Given the description of an element on the screen output the (x, y) to click on. 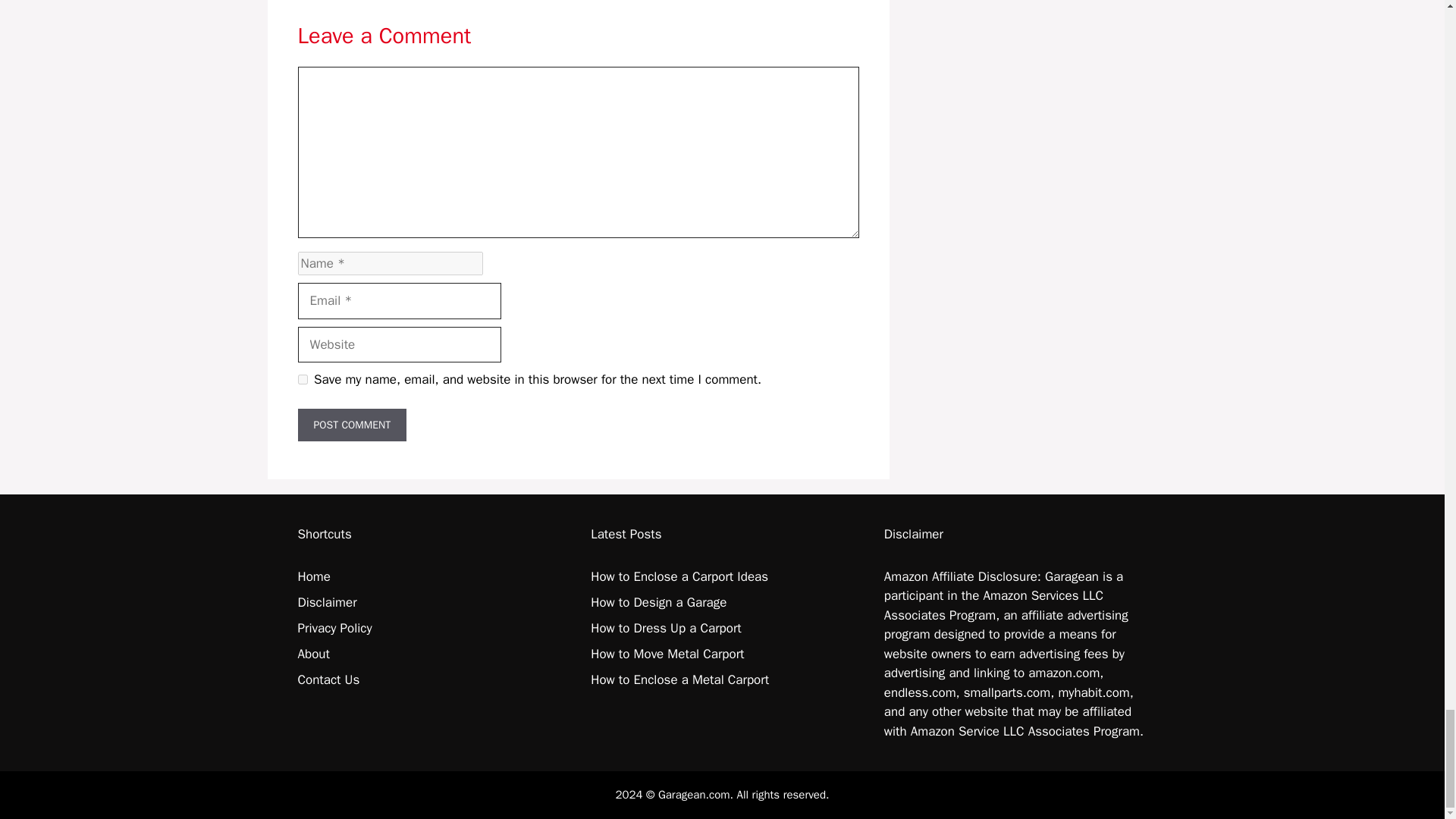
How to Design a Garage (658, 602)
yes (302, 379)
About (313, 653)
How to Enclose a Carport Ideas (679, 576)
How to Dress Up a Carport (666, 627)
Post Comment (351, 424)
How to Enclose a Metal Carport (679, 679)
Post Comment (351, 424)
Privacy Policy (334, 627)
Home (313, 576)
